Given the description of an element on the screen output the (x, y) to click on. 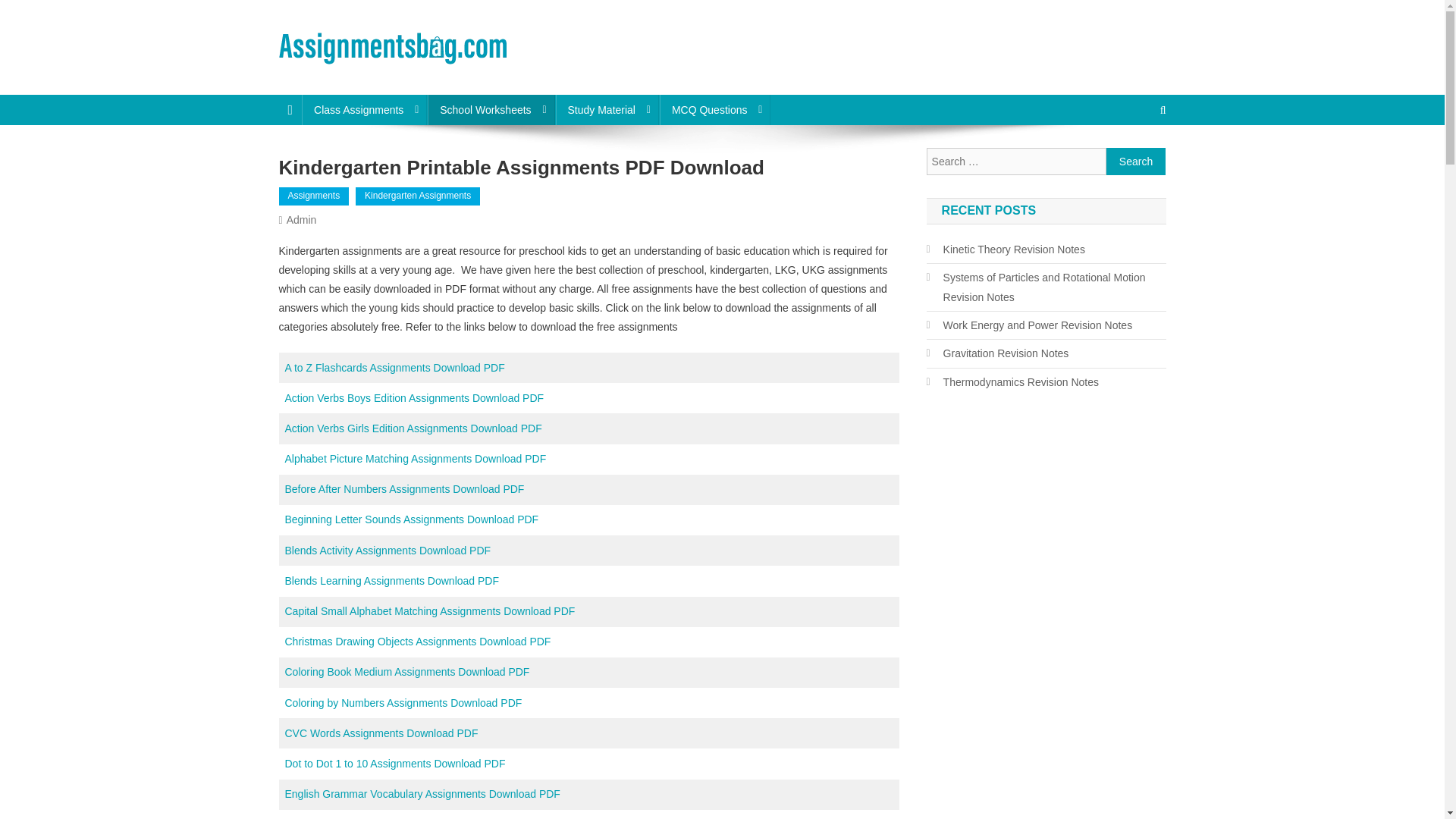
Search (1136, 161)
Class Assignments (363, 110)
AssignmentsBag.com (406, 79)
Study Material (606, 110)
School Worksheets (491, 110)
Search (1136, 161)
